Given the description of an element on the screen output the (x, y) to click on. 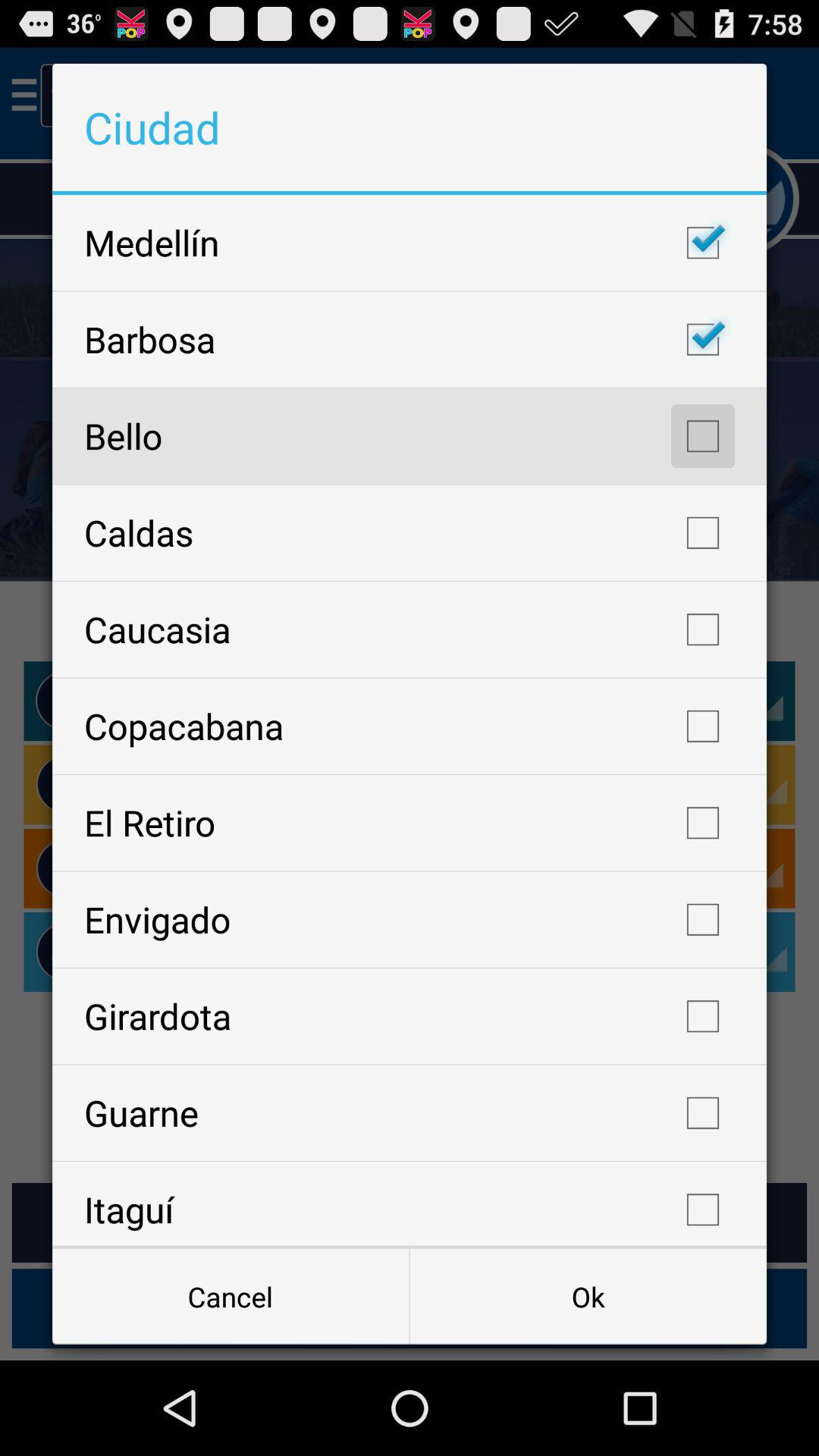
click item next to cancel (588, 1296)
